Given the description of an element on the screen output the (x, y) to click on. 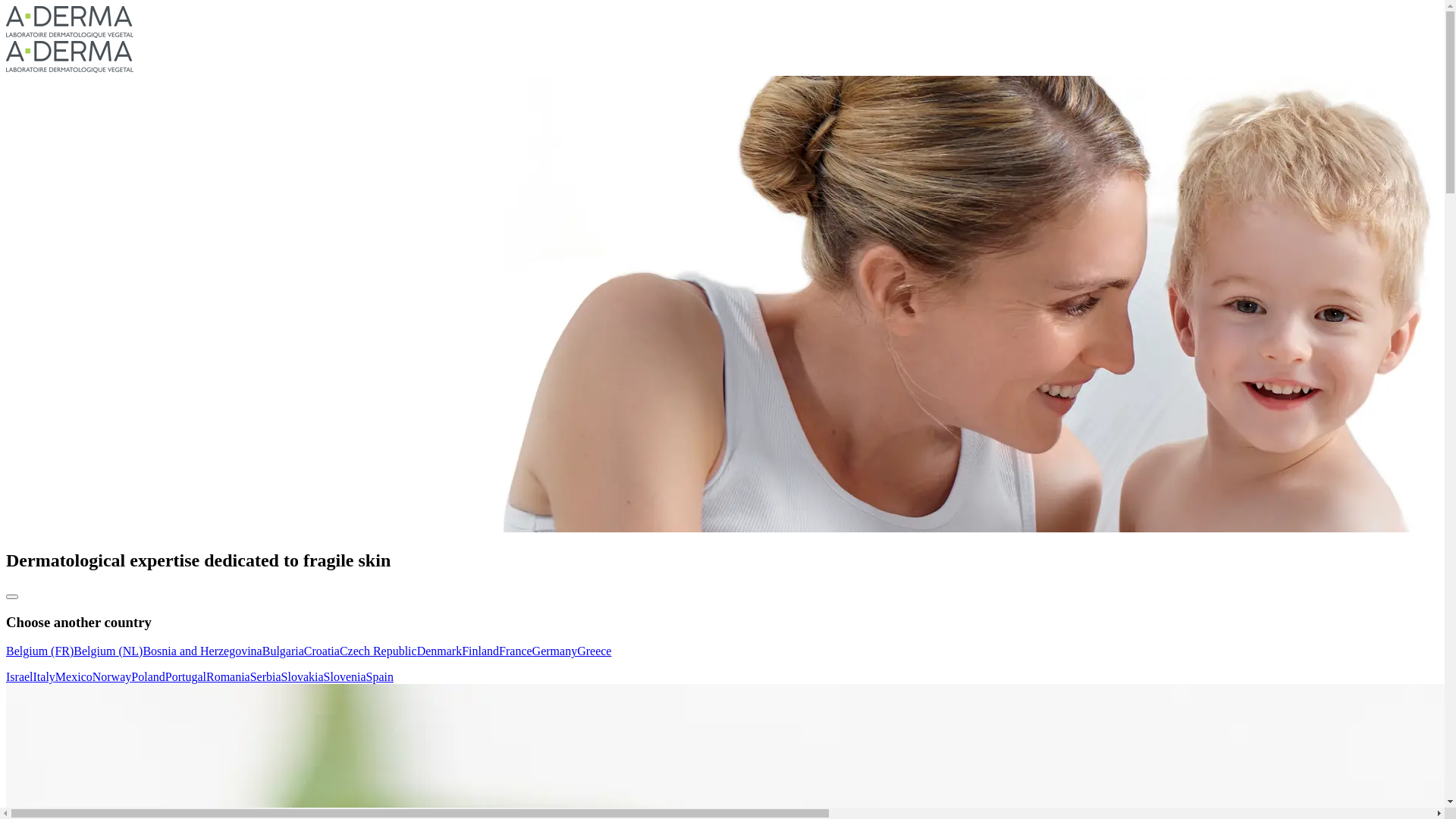
Bosnia and Herzegovina Element type: text (201, 650)
Belgium (NL) Element type: text (107, 650)
Italy Element type: text (44, 676)
Denmark Element type: text (439, 650)
Spain Element type: text (379, 676)
Poland Element type: text (147, 676)
Slovenia Element type: text (344, 676)
Portugal Element type: text (185, 676)
Serbia Element type: text (265, 676)
Mexico Element type: text (73, 676)
Norway Element type: text (111, 676)
Germany Element type: text (554, 650)
France Element type: text (515, 650)
Belgium (FR) Element type: text (39, 650)
Israel Element type: text (19, 676)
Romania Element type: text (228, 676)
Croatia Element type: text (321, 650)
Finland Element type: text (479, 650)
Bulgaria Element type: text (283, 650)
Czech Republic Element type: text (378, 650)
Slovakia Element type: text (302, 676)
Greece Element type: text (594, 650)
